Given the description of an element on the screen output the (x, y) to click on. 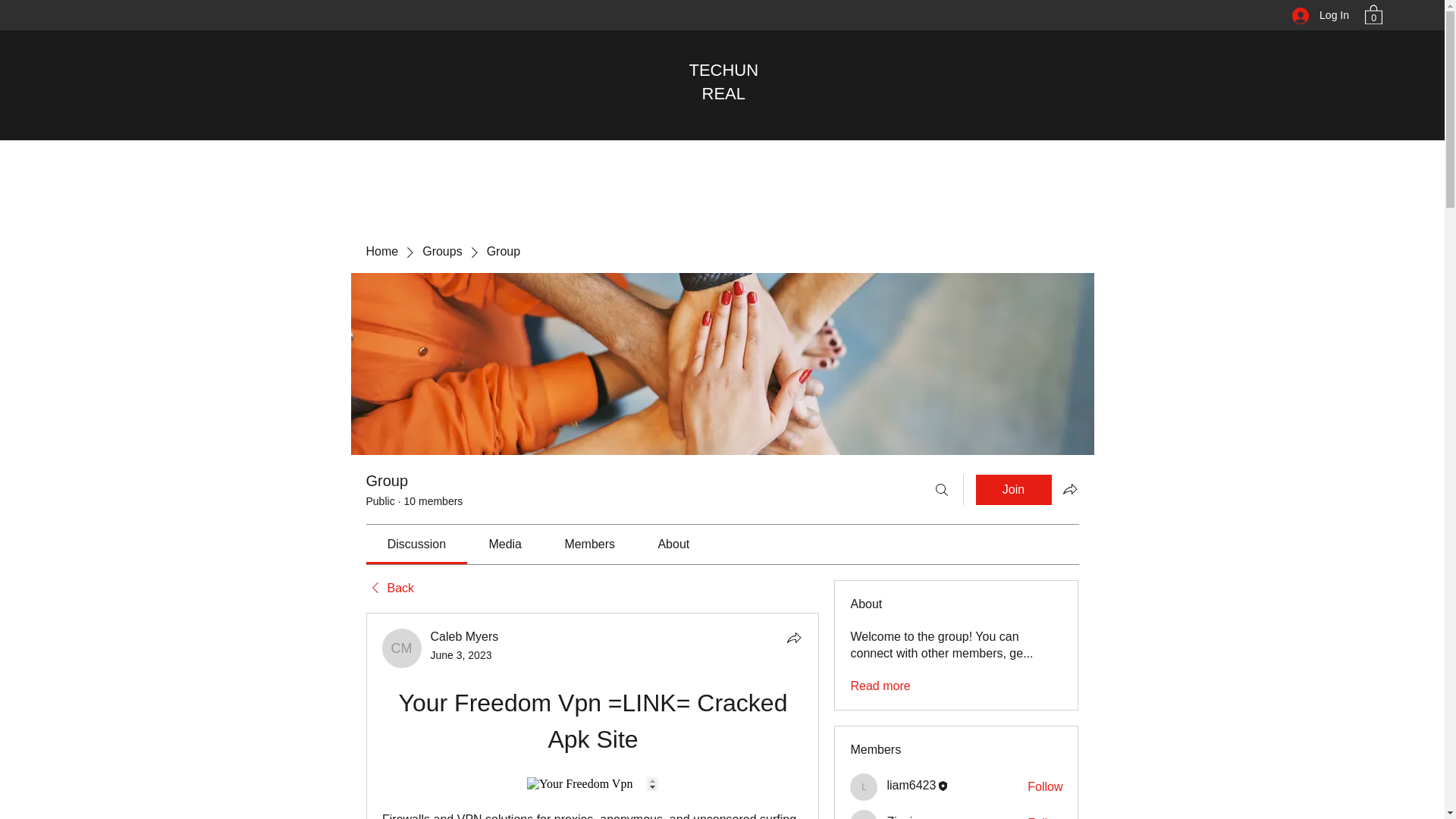
Groups (441, 251)
Log In (1320, 15)
Follow (1044, 816)
Follow (1044, 786)
liam6423 (863, 786)
Zievia (863, 814)
remote content (592, 784)
Join (1013, 490)
liam6423 (911, 784)
June 3, 2023 (461, 654)
Read more (880, 686)
Back (389, 588)
Home (381, 251)
TECHUNREAL (723, 81)
Zievia (902, 816)
